Given the description of an element on the screen output the (x, y) to click on. 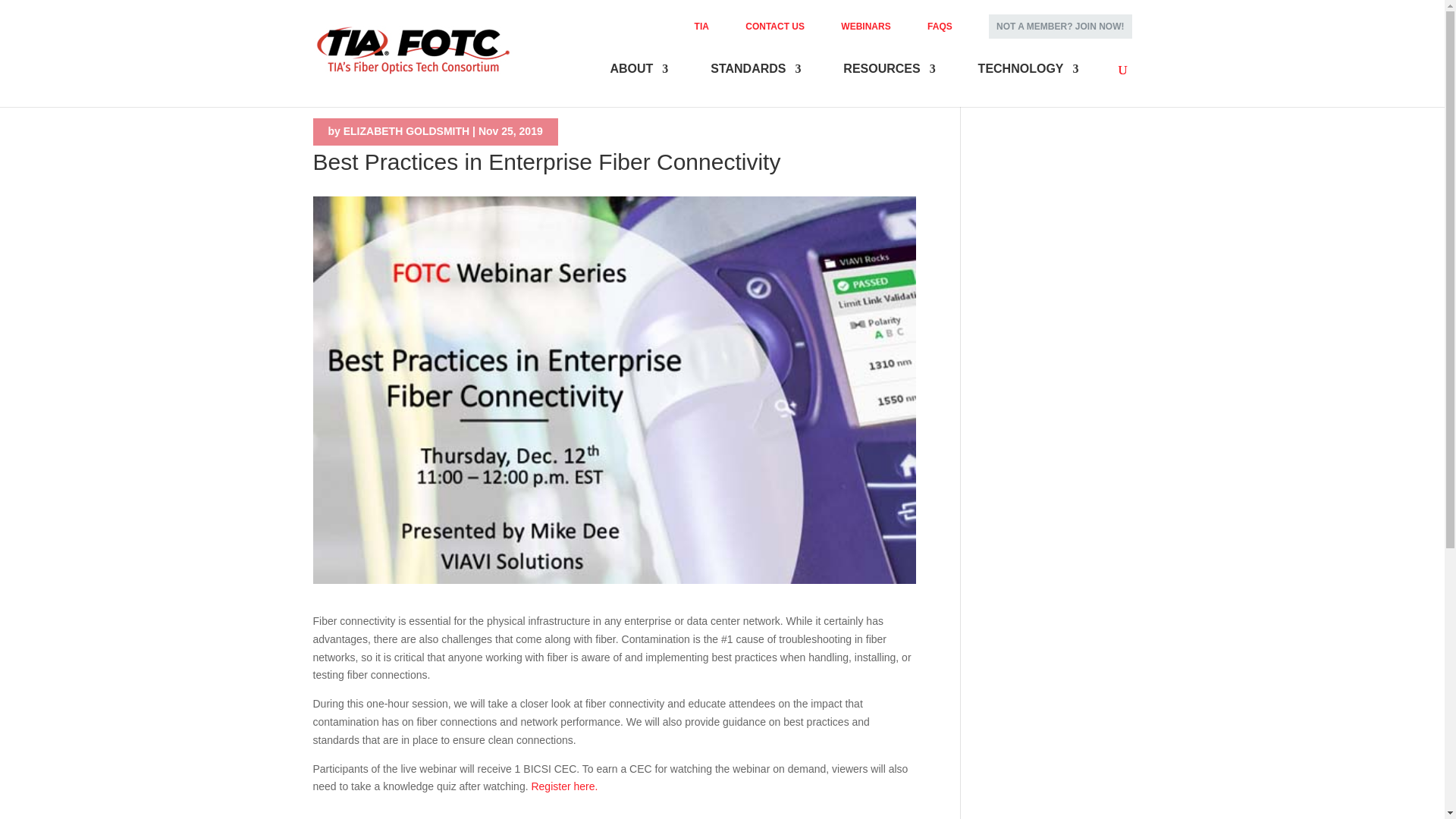
NOT A MEMBER? JOIN NOW! (1059, 26)
RESOURCES (888, 81)
TECHNOLOGY (1028, 81)
FAQS (939, 29)
CONTACT US (775, 29)
ABOUT (639, 81)
STANDARDS (755, 81)
TIA (701, 29)
Posts by ELIZABETH GOLDSMITH (405, 131)
WEBINARS (865, 29)
